Given the description of an element on the screen output the (x, y) to click on. 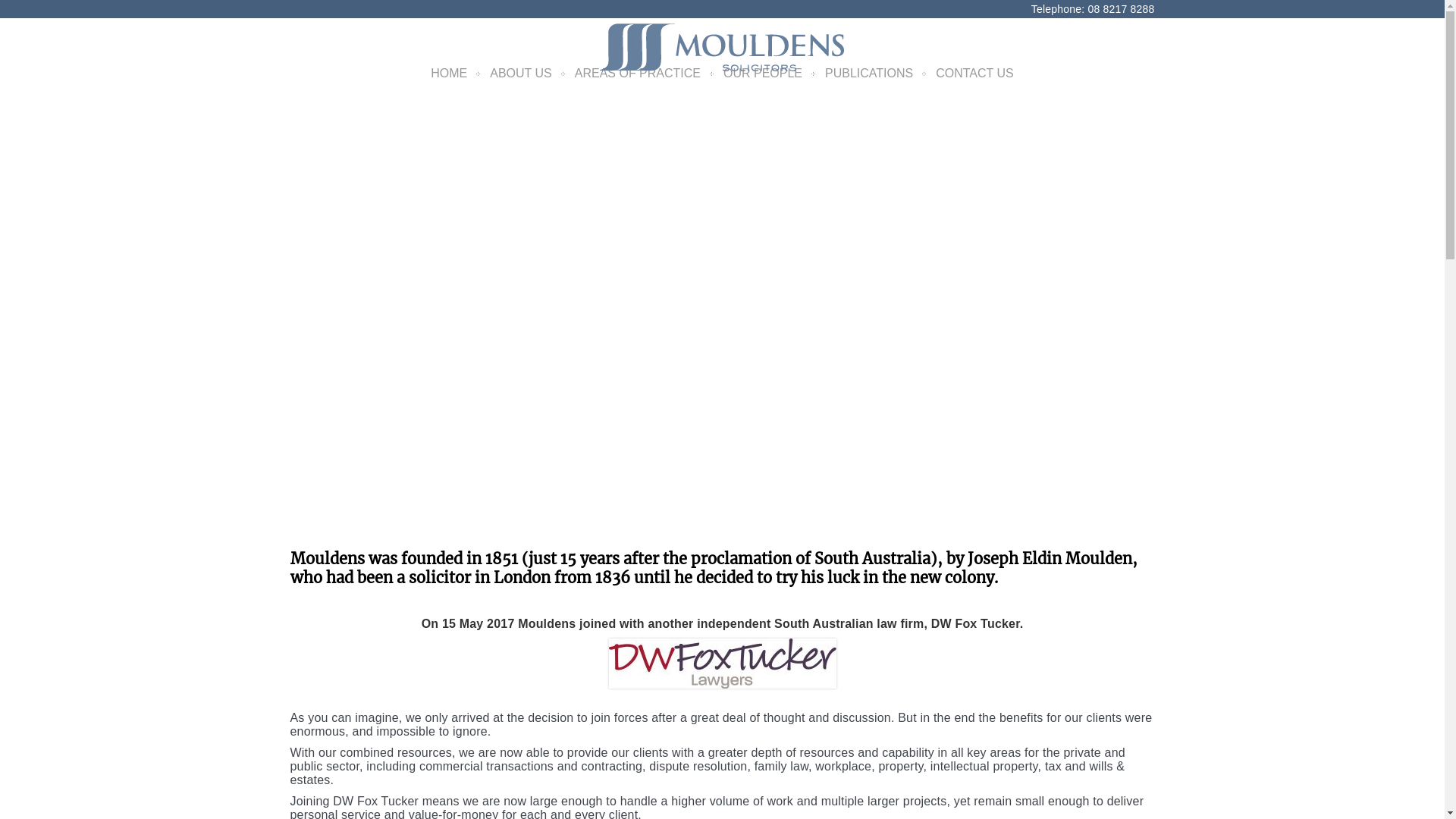
HOME Element type: text (448, 72)
PUBLICATIONS Element type: text (868, 72)
OUR PEOPLE Element type: text (762, 72)
CONTACT US Element type: text (974, 72)
ABOUT US Element type: text (520, 72)
AREAS OF PRACTICE Element type: text (637, 72)
